Given the description of an element on the screen output the (x, y) to click on. 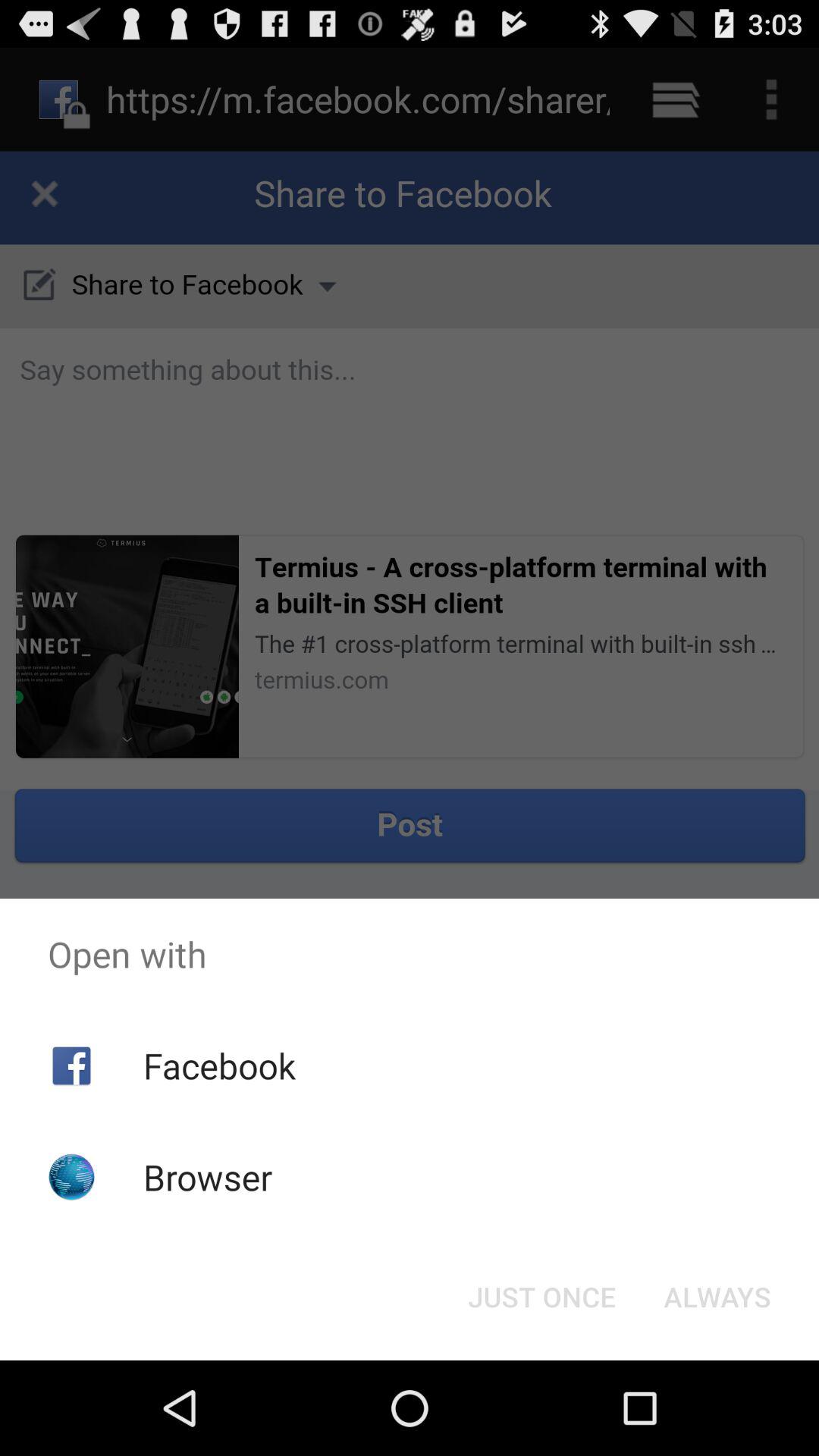
choose app below open with item (717, 1296)
